Given the description of an element on the screen output the (x, y) to click on. 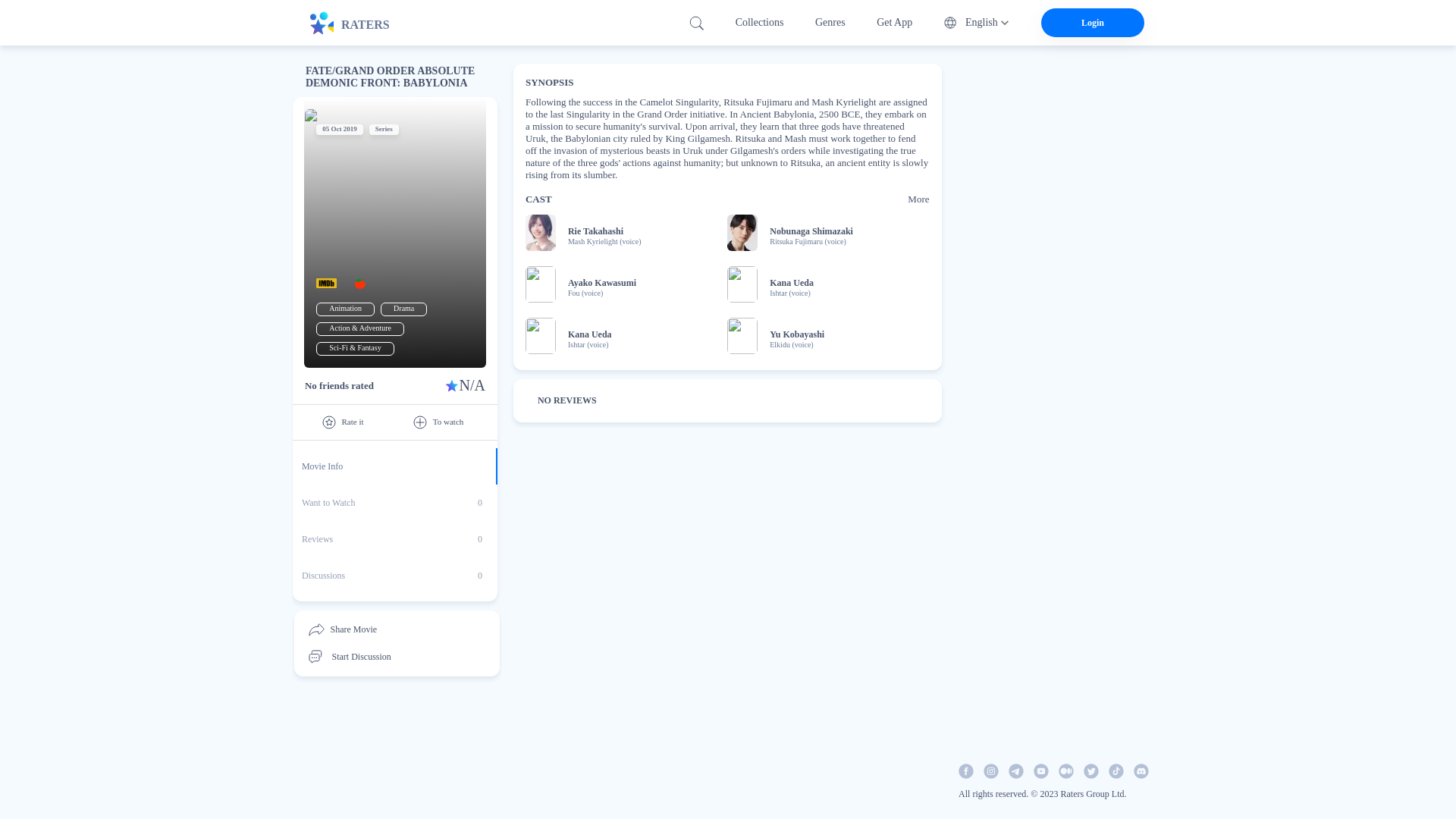
Movie Info (394, 465)
Animation (394, 575)
Login (345, 308)
Rie Takahashi (1092, 22)
Drama (394, 520)
RATERS (394, 502)
